Given the description of an element on the screen output the (x, y) to click on. 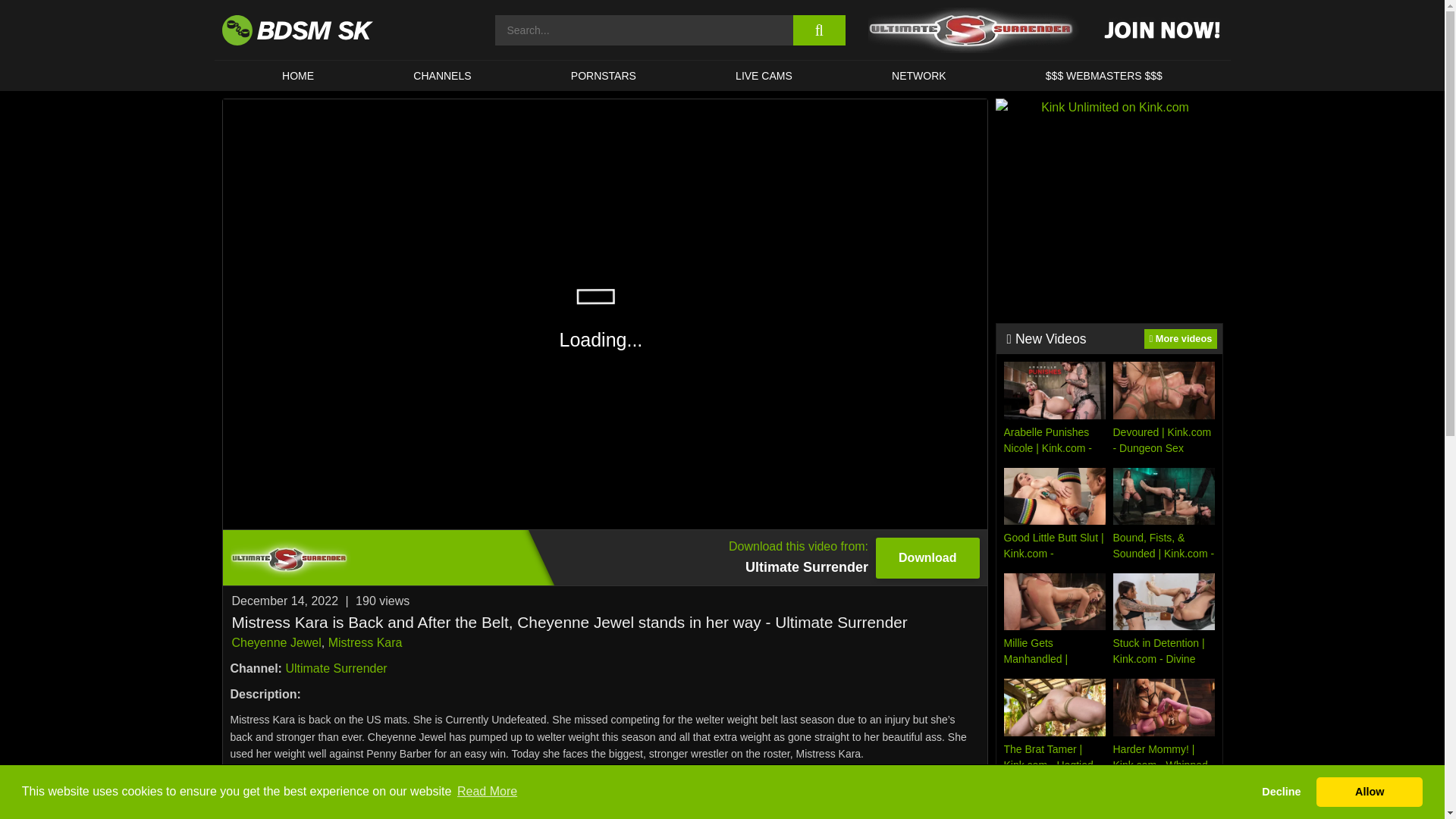
NETWORK (918, 75)
Play Video (604, 557)
CHANNELS (604, 313)
Ultimate Surrender (442, 75)
Play Video (336, 667)
LIVE CAMS (604, 313)
PORNSTARS (763, 75)
HOME (603, 75)
Mistress Kara (296, 75)
